Given the description of an element on the screen output the (x, y) to click on. 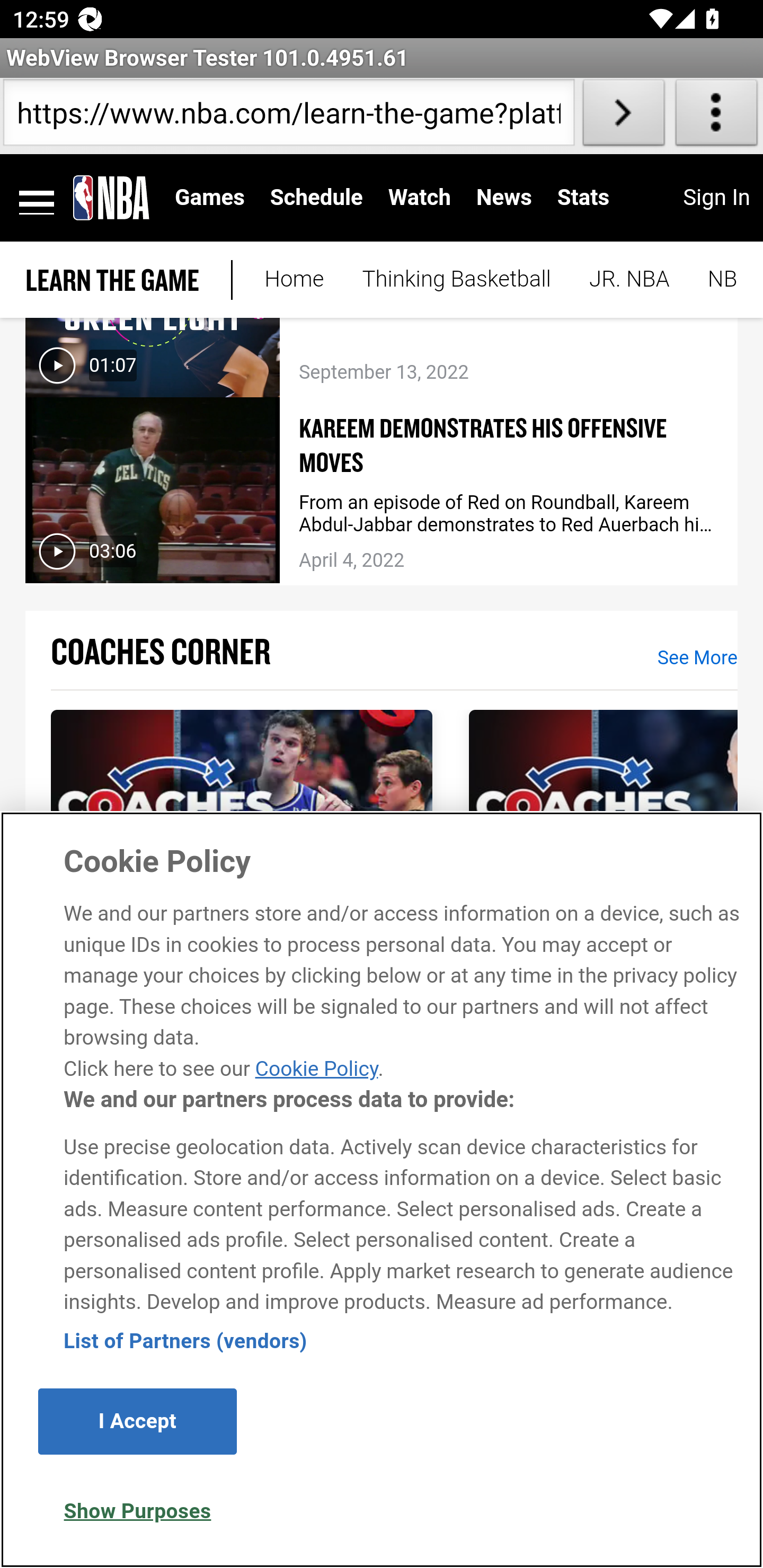
Load URL (623, 115)
About WebView (716, 115)
Games (209, 198)
Schedule (315, 198)
Watch (419, 198)
News (503, 198)
Stats (583, 198)
Sign In (716, 198)
NBA Logo NBA NBA Logo NBA (111, 198)
Global Navigation Toggle (36, 198)
Home (293, 280)
Thinking Basketball (455, 280)
JR. NBA (629, 280)
NBA Official (712, 280)
September 13, 2022 (508, 366)
April 4, 2022 (508, 556)
See More (696, 659)
Cookie Policy (316, 1068)
List of Partners (vendors) (185, 1341)
I Accept (137, 1422)
Show Purposes (137, 1512)
